Given the description of an element on the screen output the (x, y) to click on. 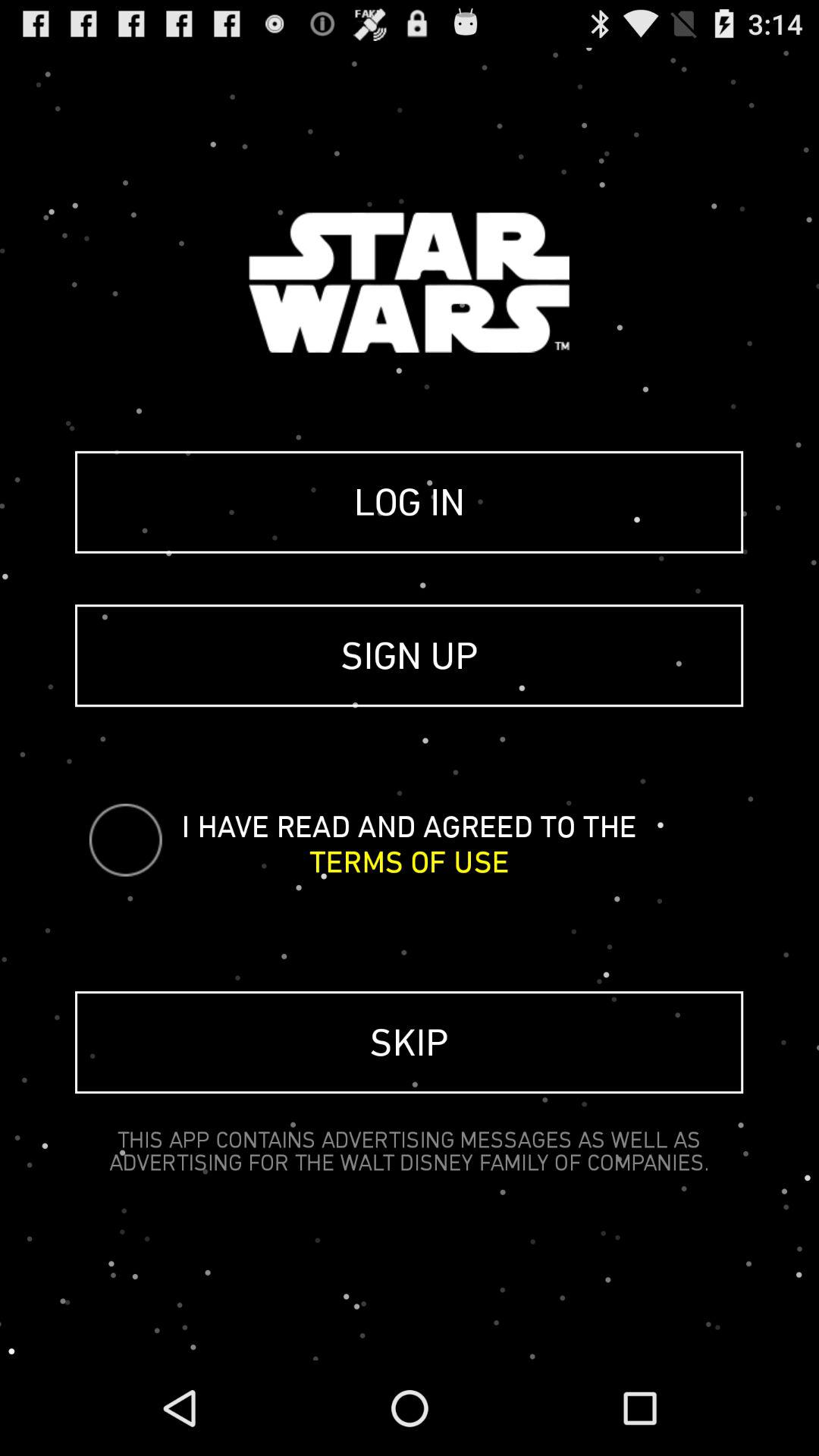
select the log in (409, 502)
